Given the description of an element on the screen output the (x, y) to click on. 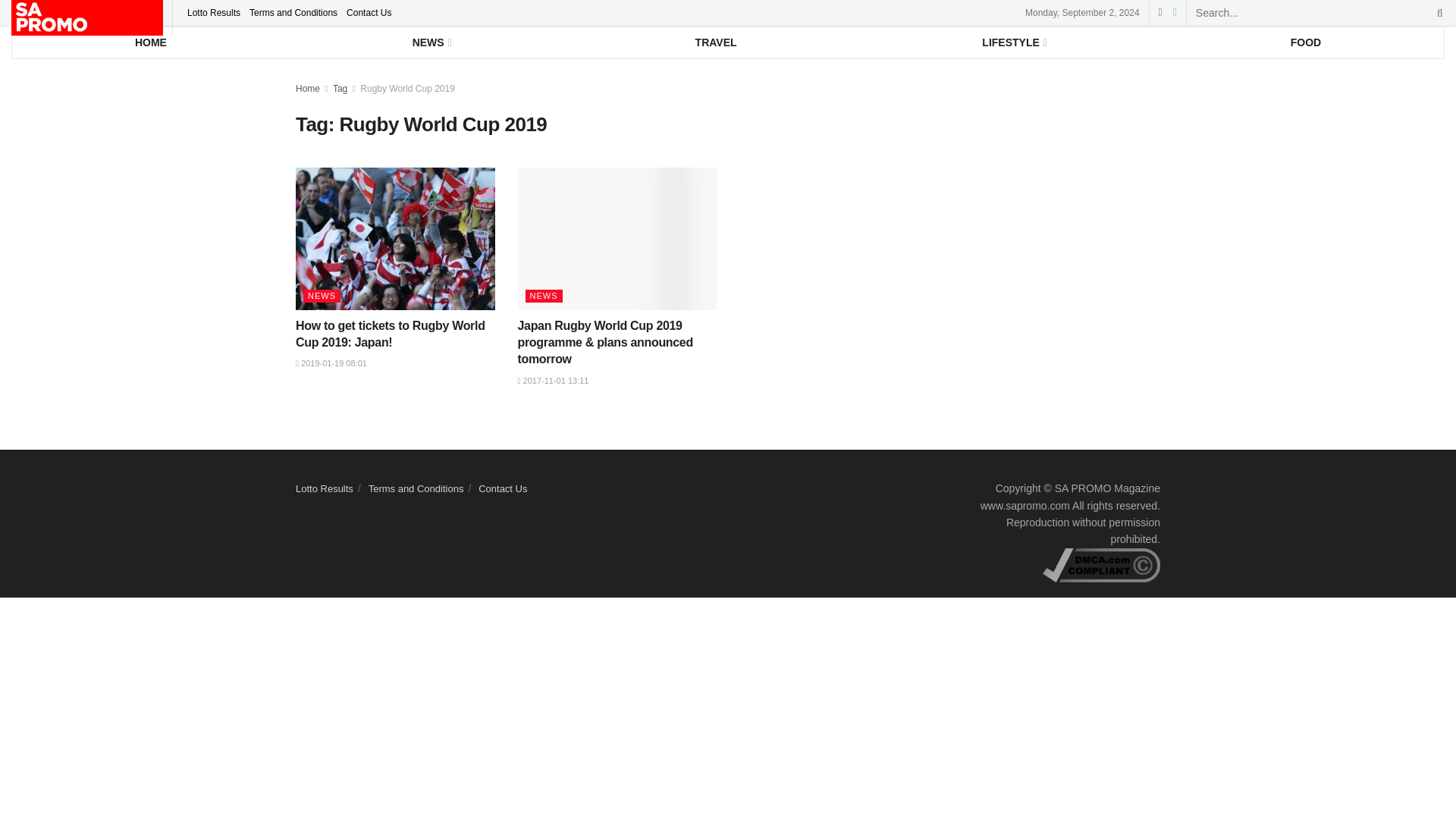
Terms and Conditions (292, 12)
NEWS (430, 42)
Lotto Results (213, 12)
FOOD (1305, 42)
DMCA Compliance information for sapromo.com (1101, 563)
Contact Us (368, 12)
LIFESTYLE (1013, 42)
TRAVEL (716, 42)
HOME (150, 42)
